Given the description of an element on the screen output the (x, y) to click on. 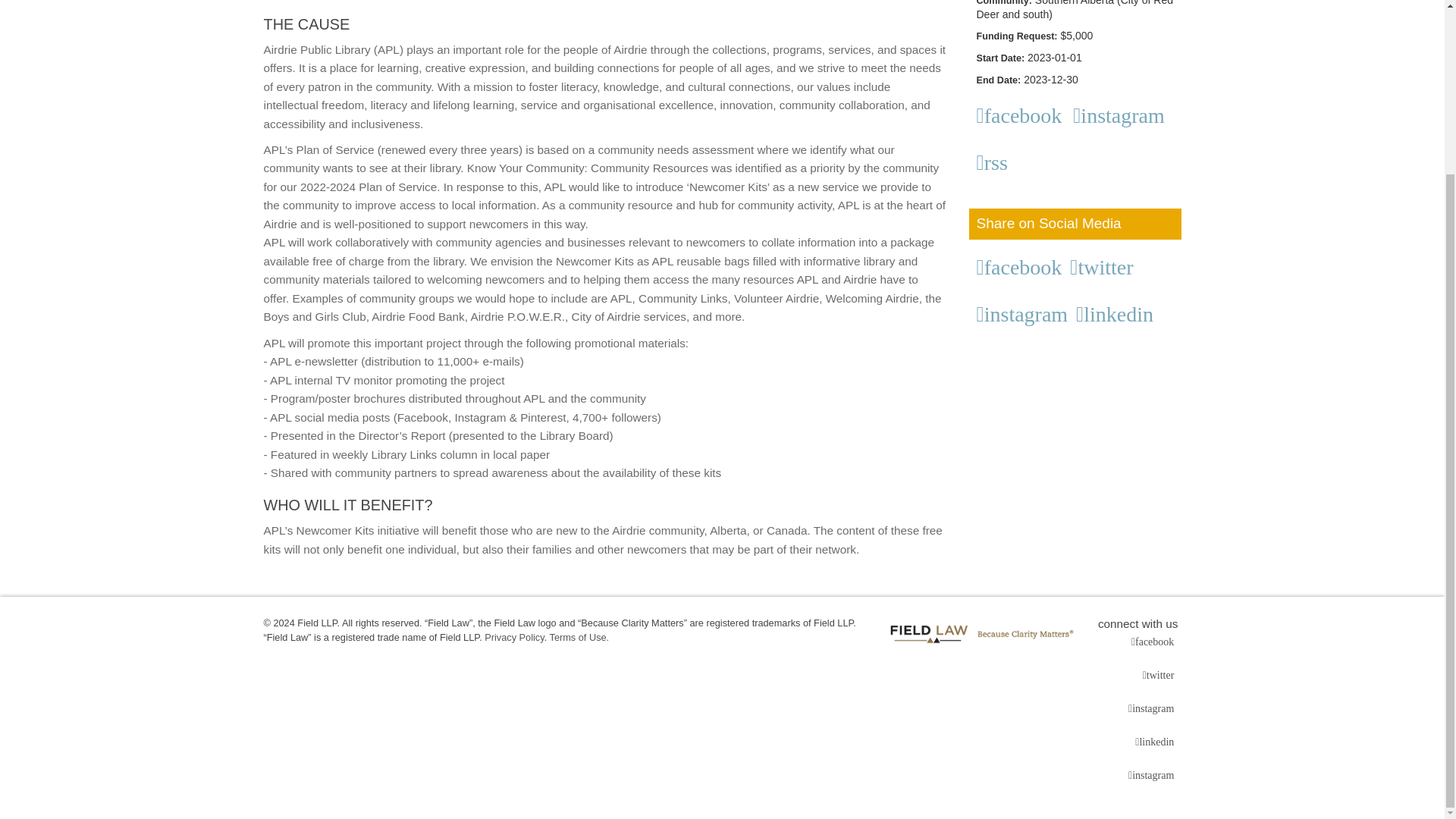
facebook (1021, 115)
instagram (1152, 709)
instagram (1025, 314)
Privacy Policy (513, 636)
Terms of Use. (580, 636)
twitter (1104, 267)
instagram (1121, 115)
facebook (1021, 267)
rss (994, 162)
instagram (1152, 775)
twitter (1159, 675)
linkedin (1156, 742)
linkedin (1116, 314)
facebook (1154, 642)
